Given the description of an element on the screen output the (x, y) to click on. 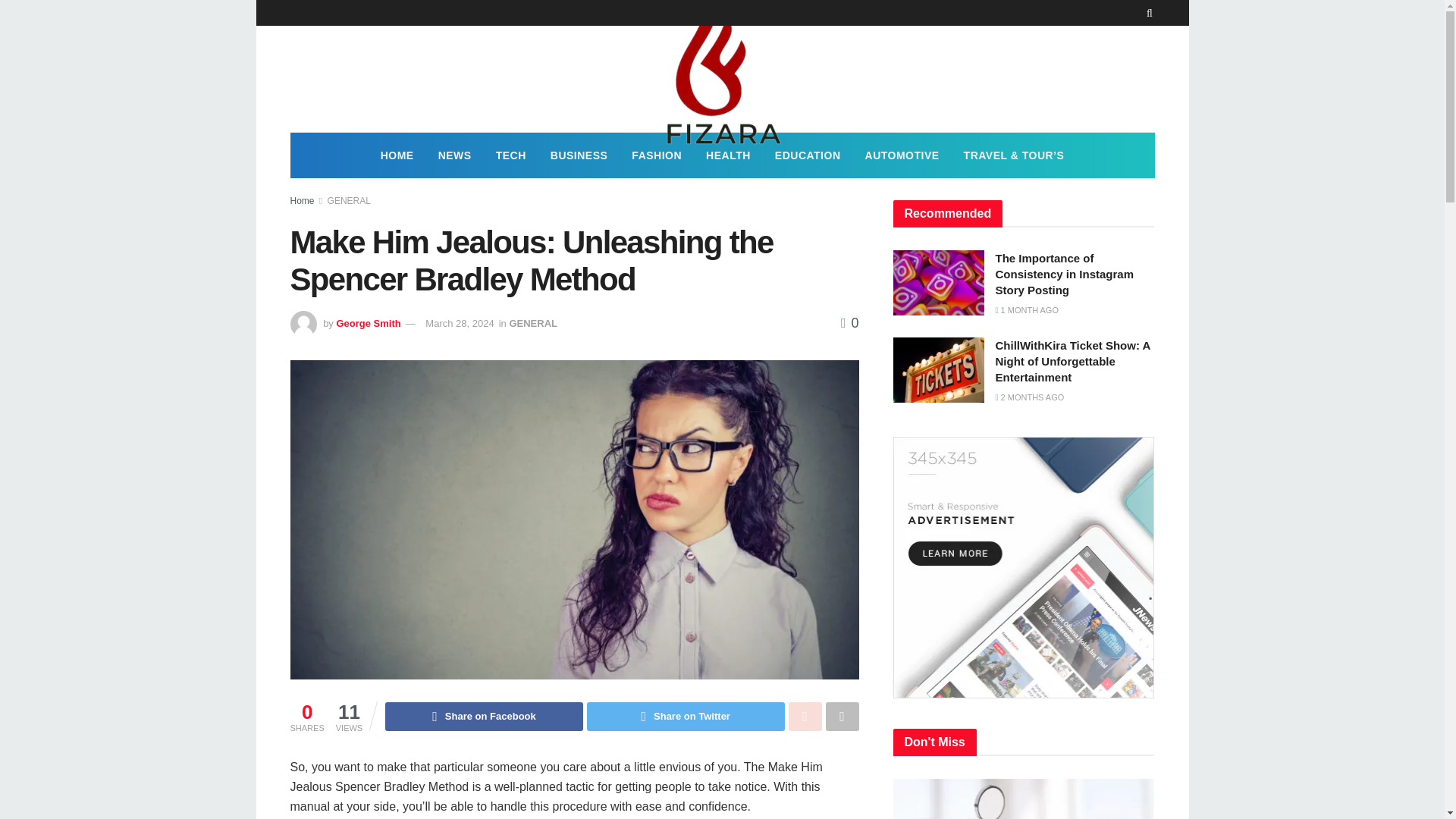
BUSINESS (579, 155)
HEALTH (728, 155)
Share on Facebook (484, 716)
Home (301, 200)
FASHION (657, 155)
GENERAL (349, 200)
Share on Twitter (685, 716)
NEWS (454, 155)
AUTOMOTIVE (902, 155)
HOME (397, 155)
March 28, 2024 (459, 323)
0 (850, 322)
GENERAL (532, 323)
TECH (510, 155)
EDUCATION (807, 155)
